Given the description of an element on the screen output the (x, y) to click on. 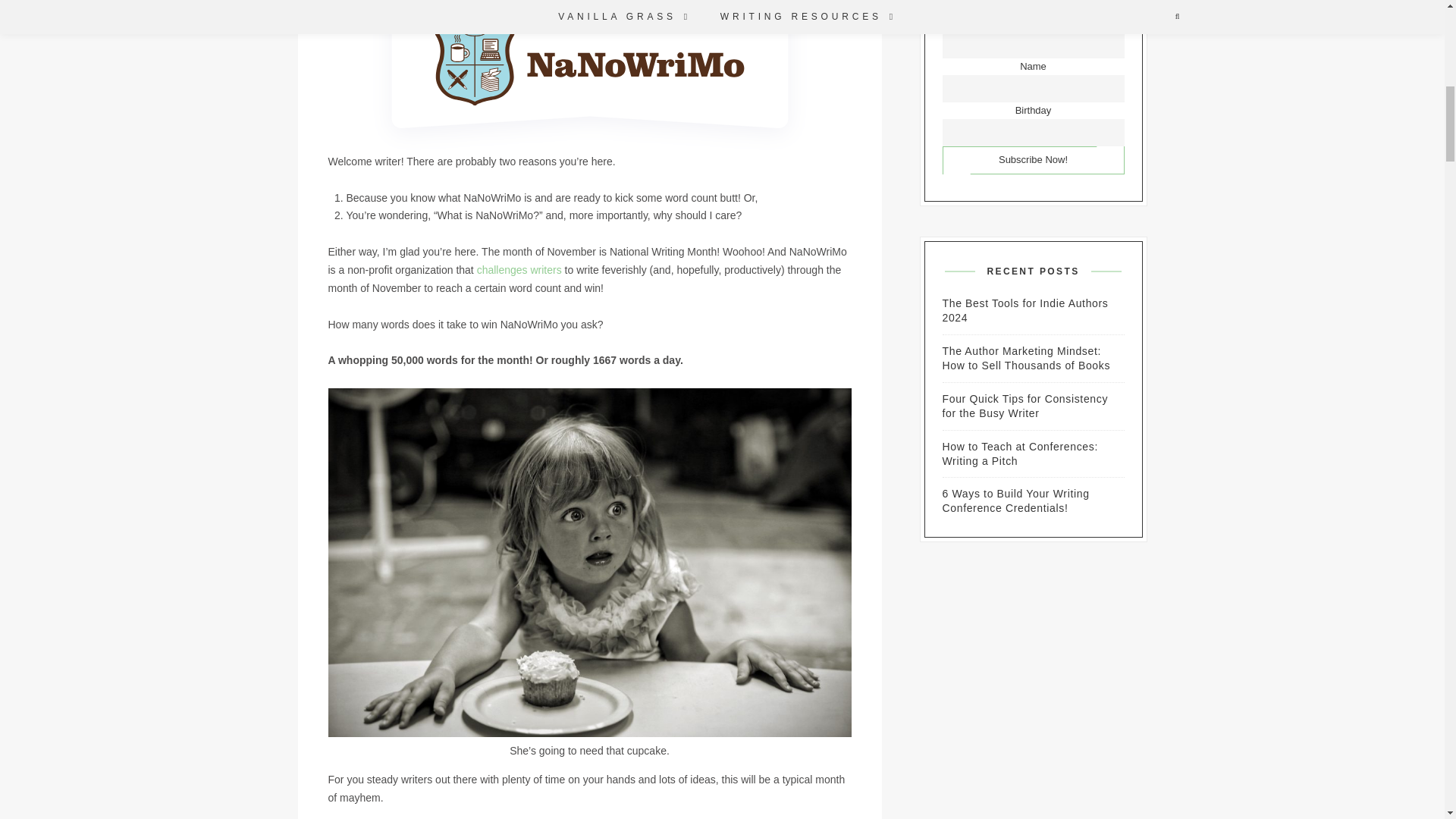
challenges writers (519, 269)
Subscribe Now! (1033, 160)
